Given the description of an element on the screen output the (x, y) to click on. 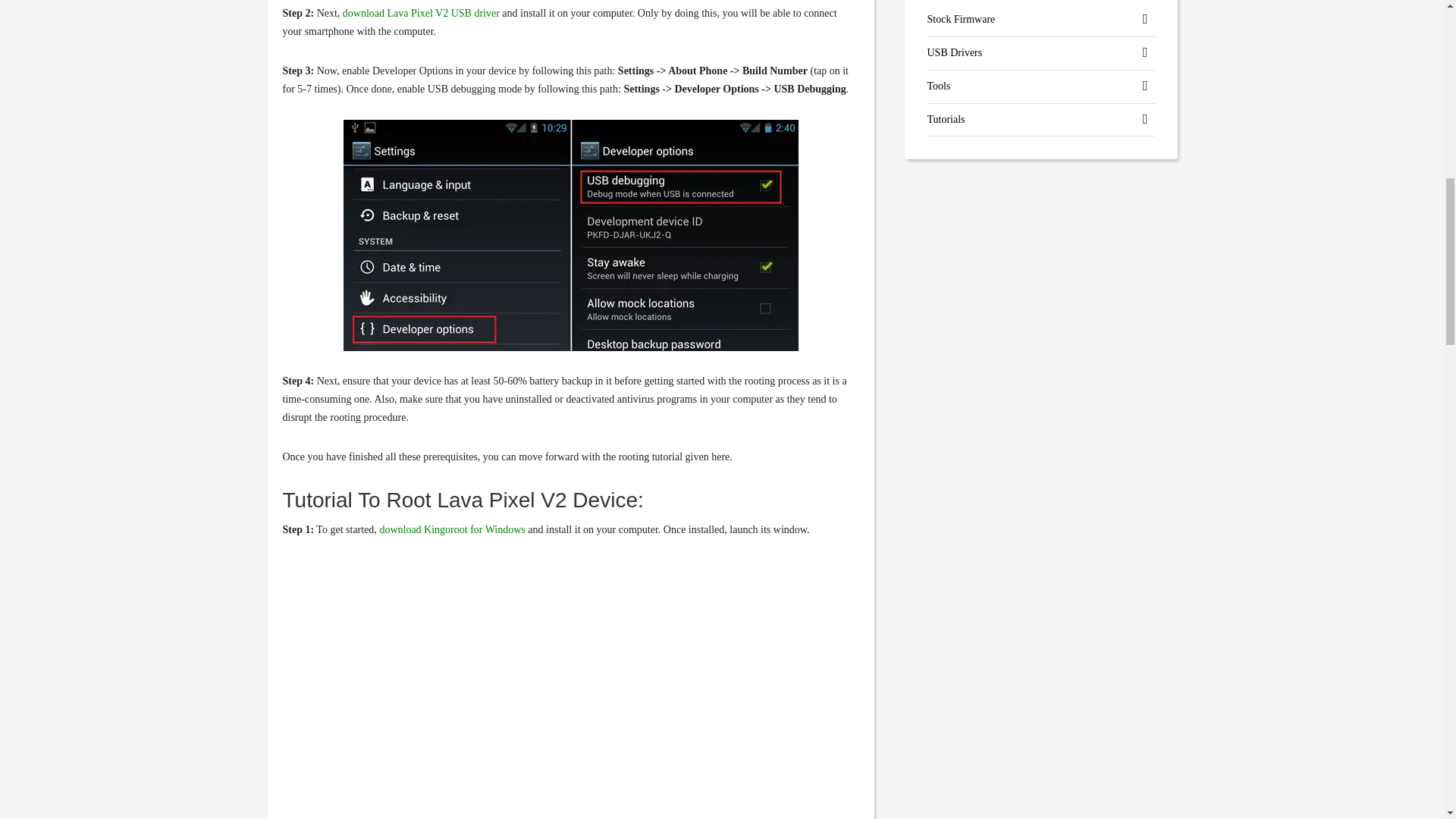
download Lava Pixel V2 USB driver (420, 12)
download Kingoroot for Windows (451, 529)
